Given the description of an element on the screen output the (x, y) to click on. 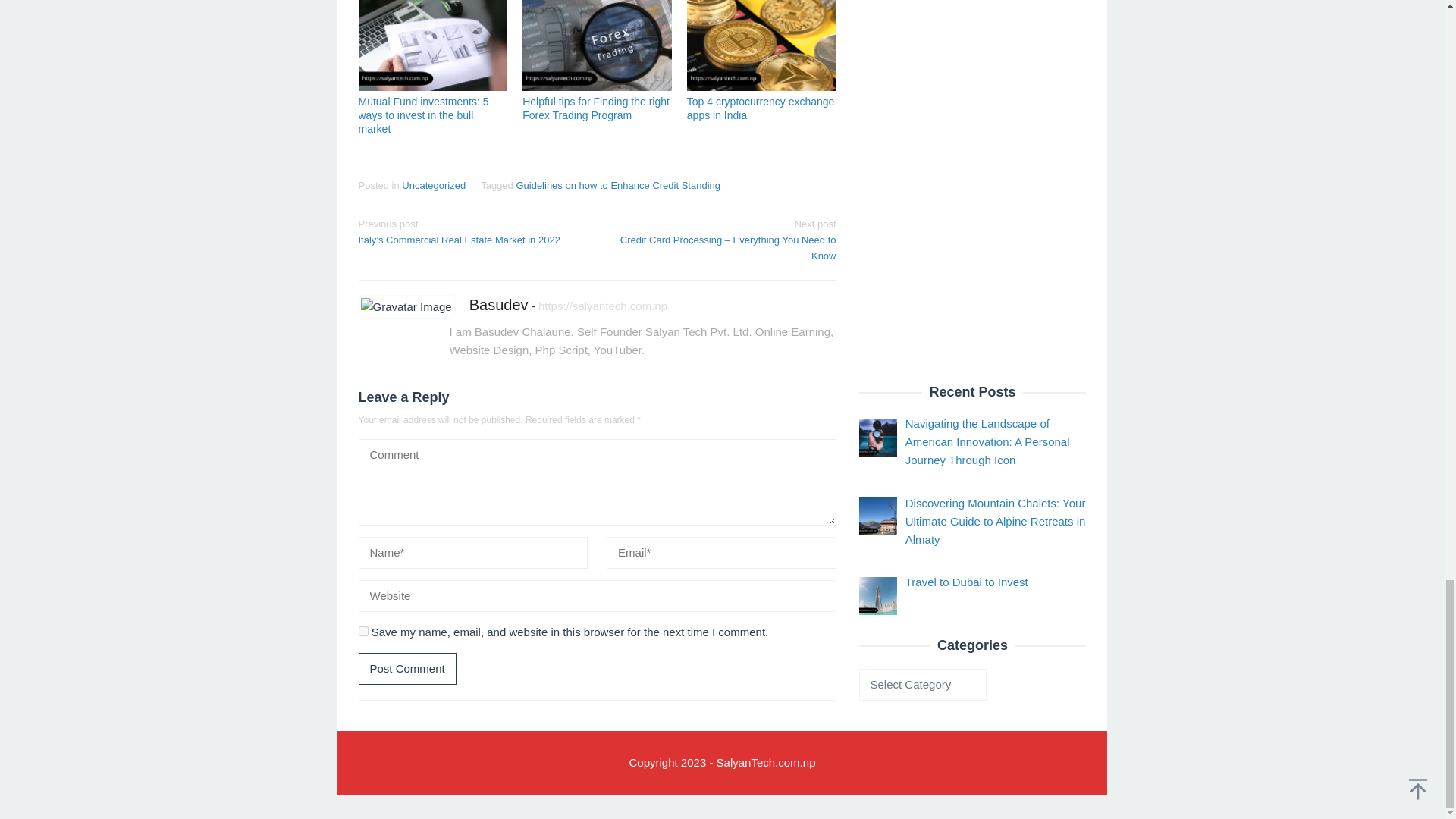
Guidelines on how to Enhance Credit Standing (617, 184)
yes (363, 631)
Mutual Fund investments: 5 ways to invest in the bull market (422, 115)
Top 4 cryptocurrency exchange apps in India (760, 108)
Basudev (498, 304)
Helpful tips for Finding the right Forex Trading Program (595, 108)
Post Comment (406, 668)
Uncategorized (433, 184)
Post Comment (406, 668)
